Given the description of an element on the screen output the (x, y) to click on. 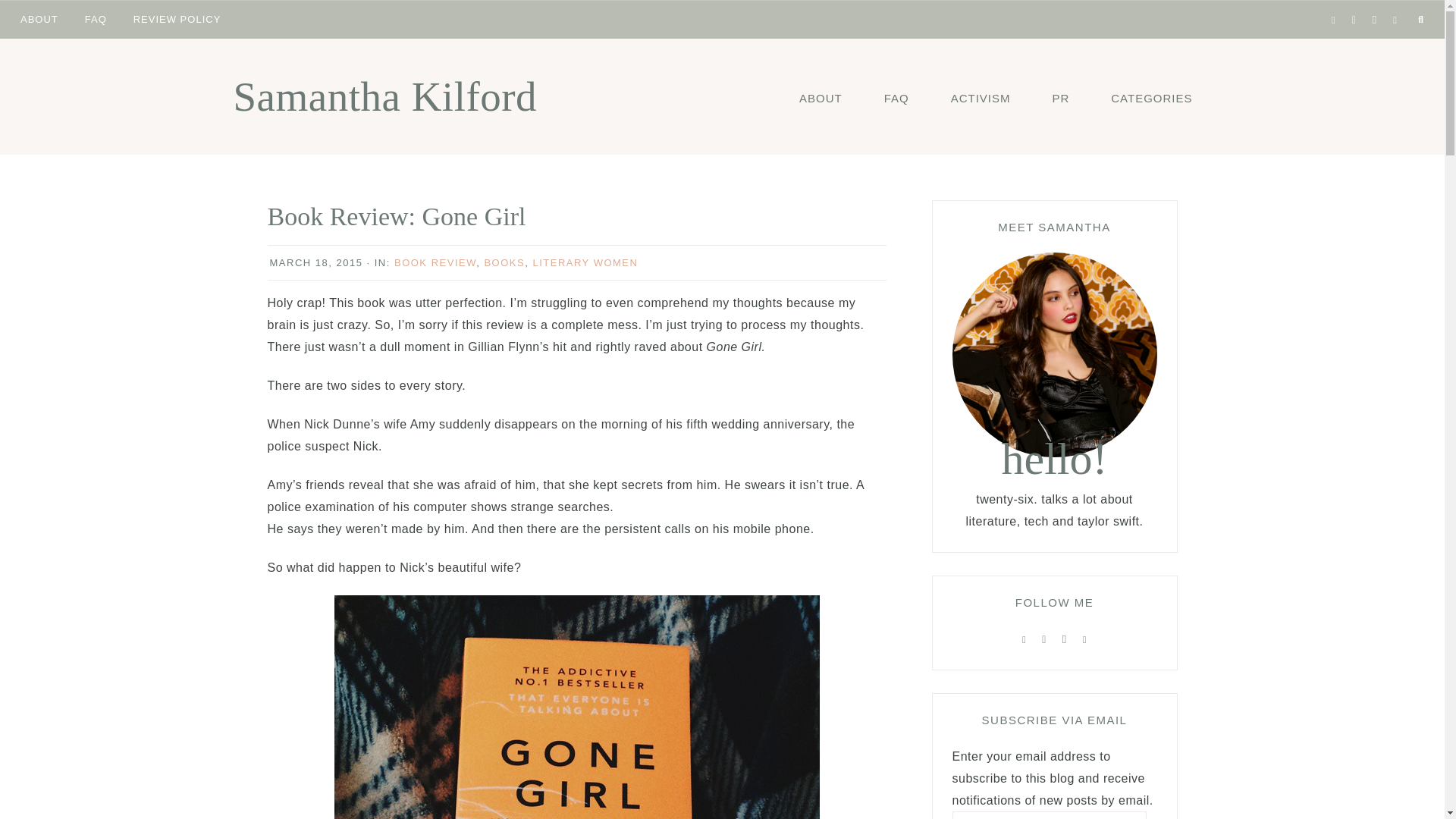
ABOUT (820, 96)
Samantha Kilford (384, 96)
LITERARY WOMEN (584, 262)
ABOUT (38, 18)
CATEGORIES (1151, 96)
ACTIVISM (980, 96)
REVIEW POLICY (177, 18)
BOOK REVIEW (435, 262)
BOOKS (503, 262)
FAQ (896, 96)
PR (1059, 96)
FAQ (95, 18)
